Given the description of an element on the screen output the (x, y) to click on. 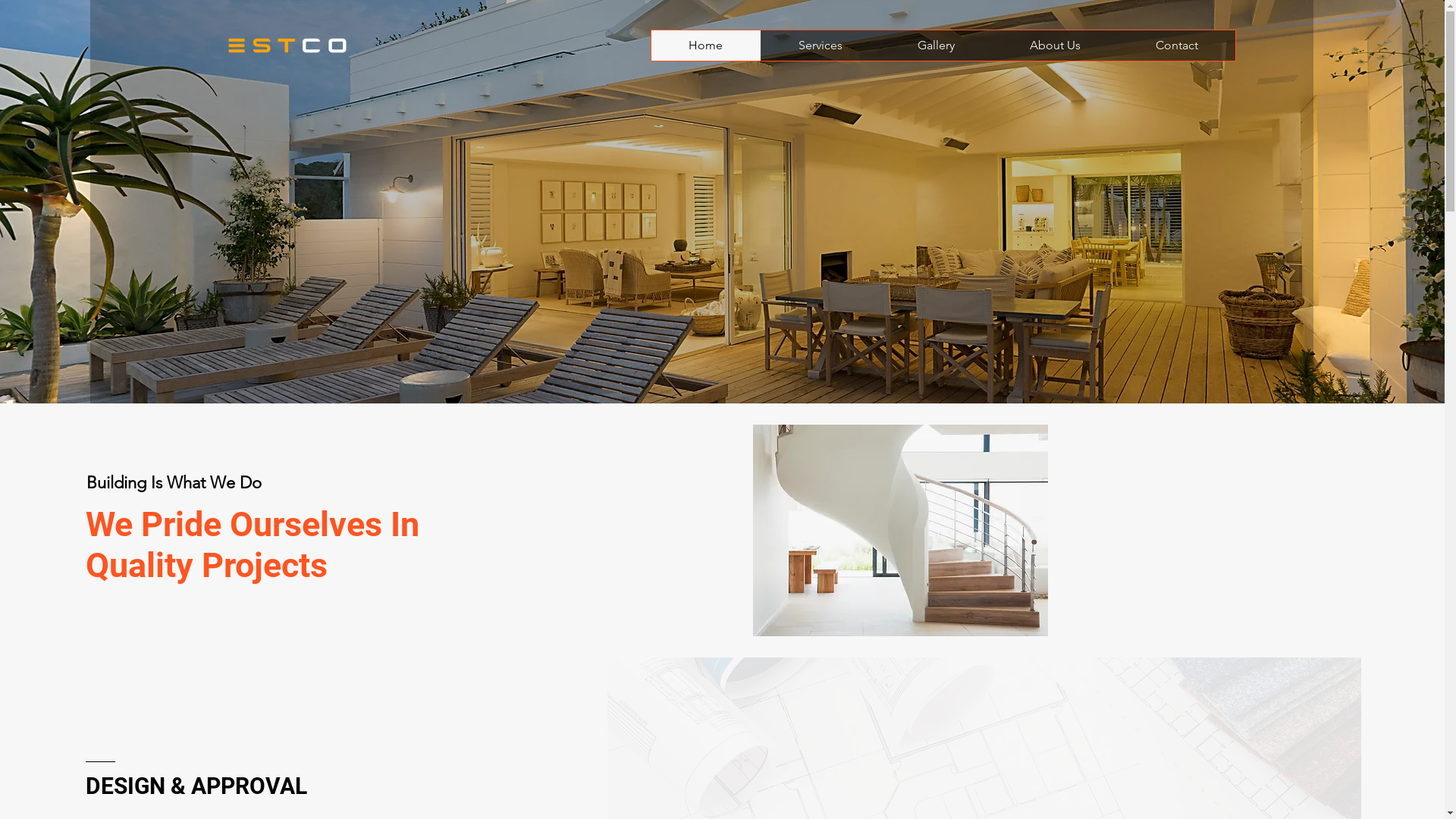
About Us Element type: text (1054, 45)
Home Element type: text (704, 45)
Gallery Element type: text (935, 45)
Services Element type: text (818, 45)
Contact Element type: text (1176, 45)
